Given the description of an element on the screen output the (x, y) to click on. 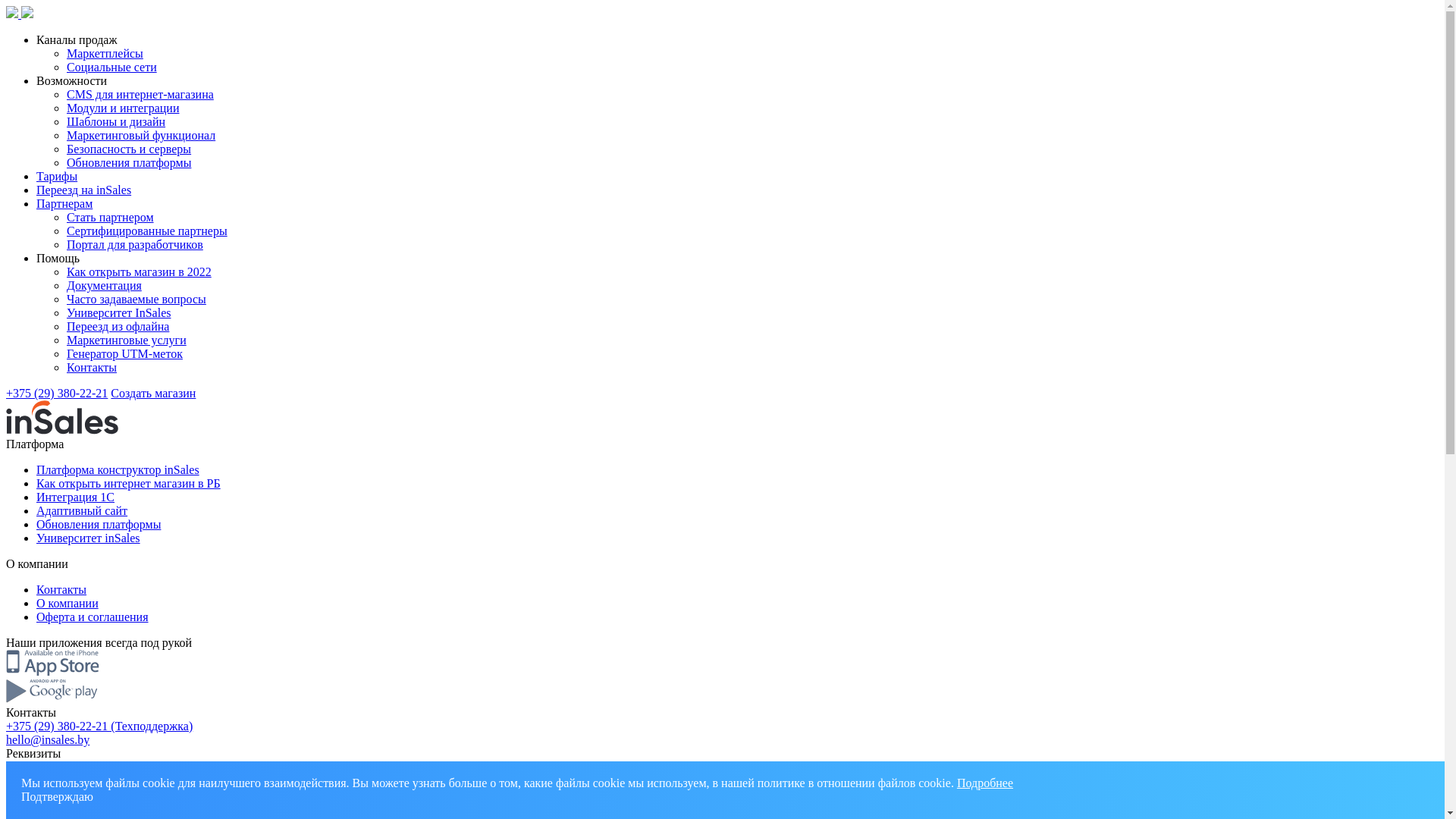
hello@insales.by Element type: text (47, 739)
+375 (29) 380-22-21 Element type: text (56, 392)
